Given the description of an element on the screen output the (x, y) to click on. 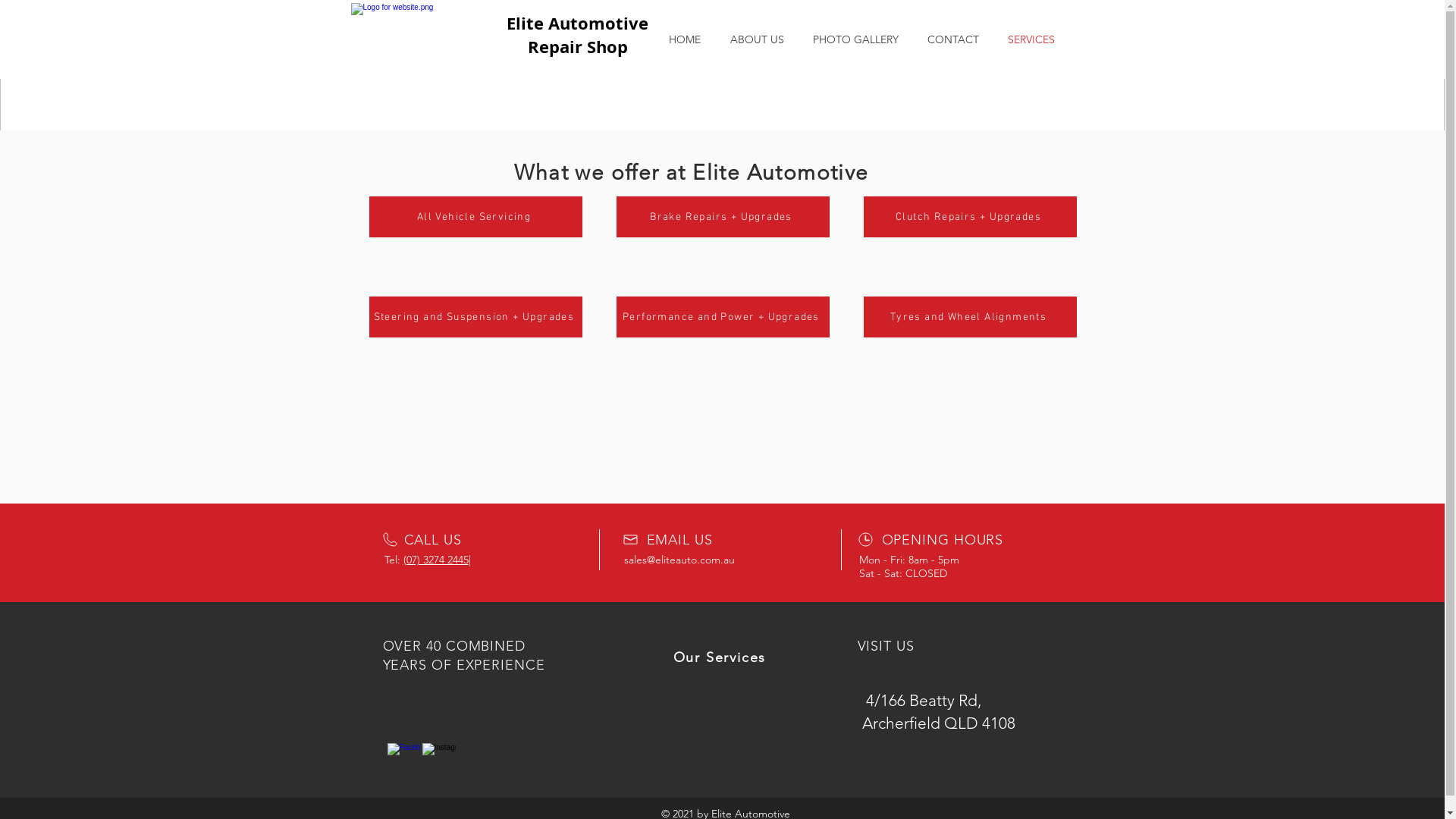
Clutch Repairs + Upgrades Element type: text (969, 216)
Brake Repairs + Upgrades Element type: text (721, 216)
Tyres and Wheel Alignments Element type: text (969, 316)
CONTACT Element type: text (953, 39)
HOME Element type: text (684, 39)
PHOTO GALLERY Element type: text (854, 39)
Our Services Element type: text (720, 657)
All Vehicle Servicing Element type: text (474, 216)
ABOUT US Element type: text (756, 39)
sales@eliteauto.com.au Element type: text (678, 559)
(07) 3274 2445 Element type: text (435, 559)
SERVICES Element type: text (1031, 39)
Steering and Suspension + Upgrades Element type: text (474, 316)
Performance and Power + Upgrades Element type: text (721, 316)
